Given the description of an element on the screen output the (x, y) to click on. 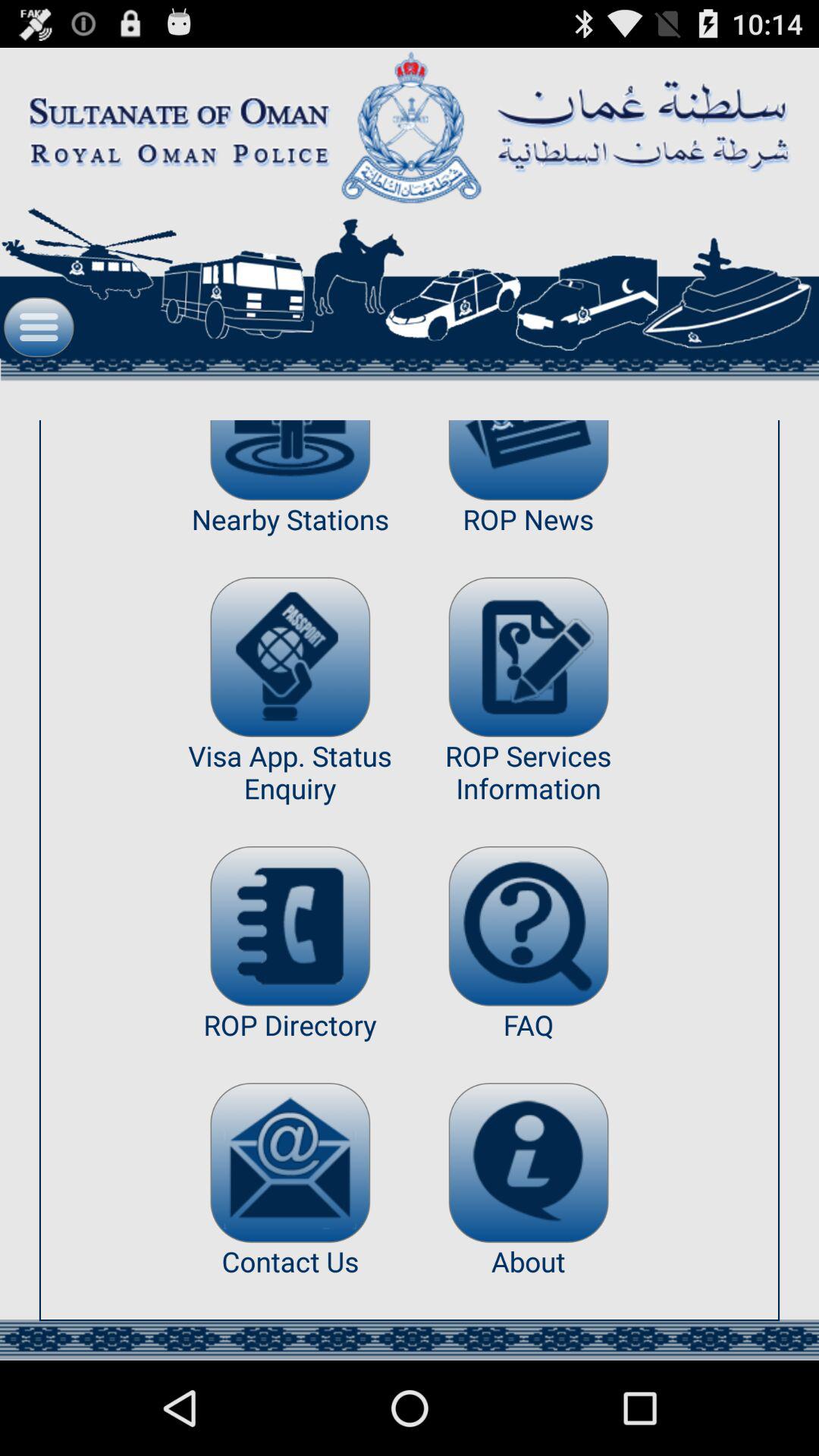
go to faq (528, 926)
